Given the description of an element on the screen output the (x, y) to click on. 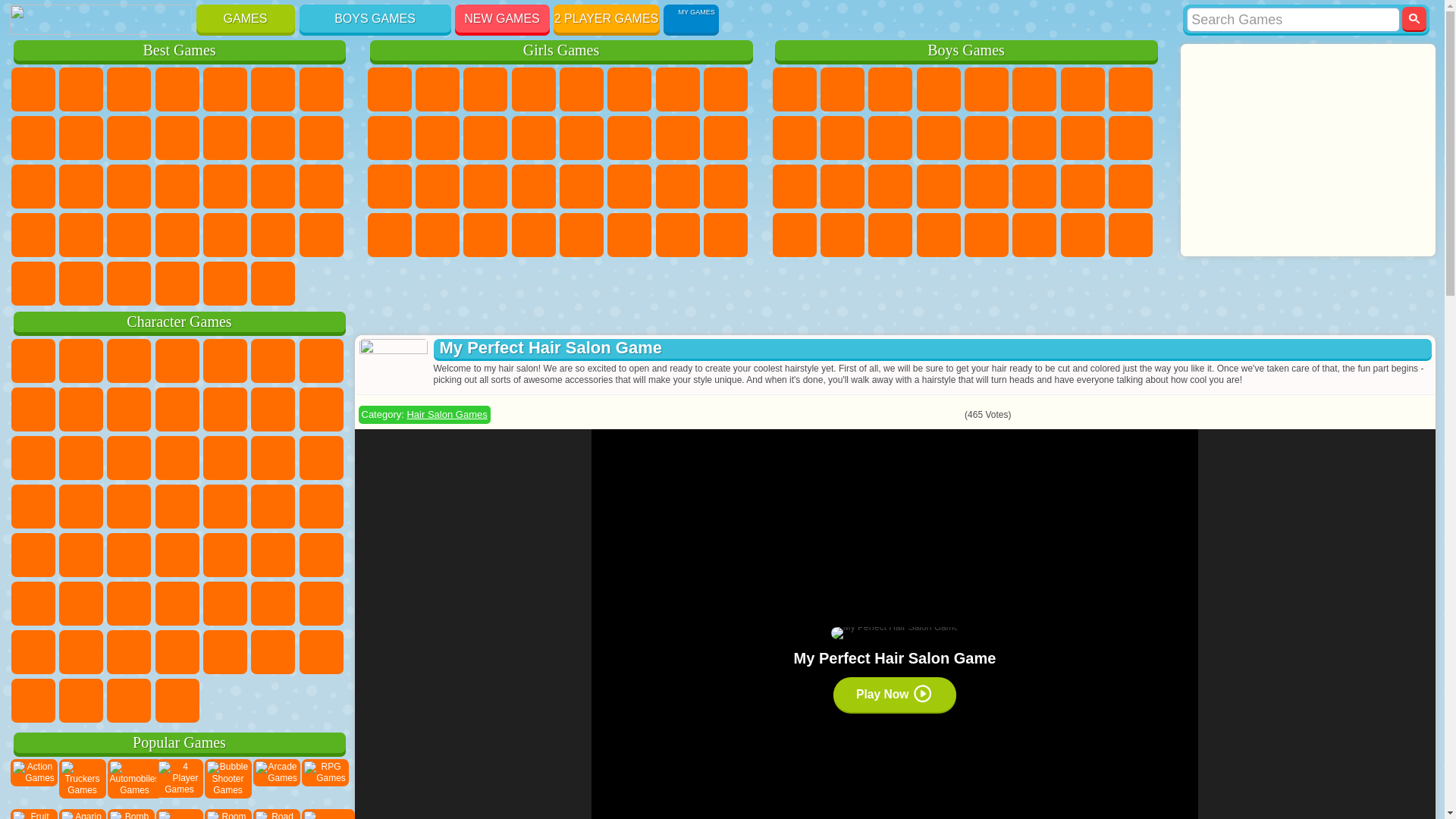
Zombie Games (986, 89)
Minecraft Games (1083, 89)
Stickman Games (889, 137)
Survival Games (889, 186)
Stickman (889, 137)
BOYS GAMES (373, 18)
Sniper (1083, 137)
Bus (793, 234)
Fighting Games (986, 137)
Search Games (1293, 19)
